Given the description of an element on the screen output the (x, y) to click on. 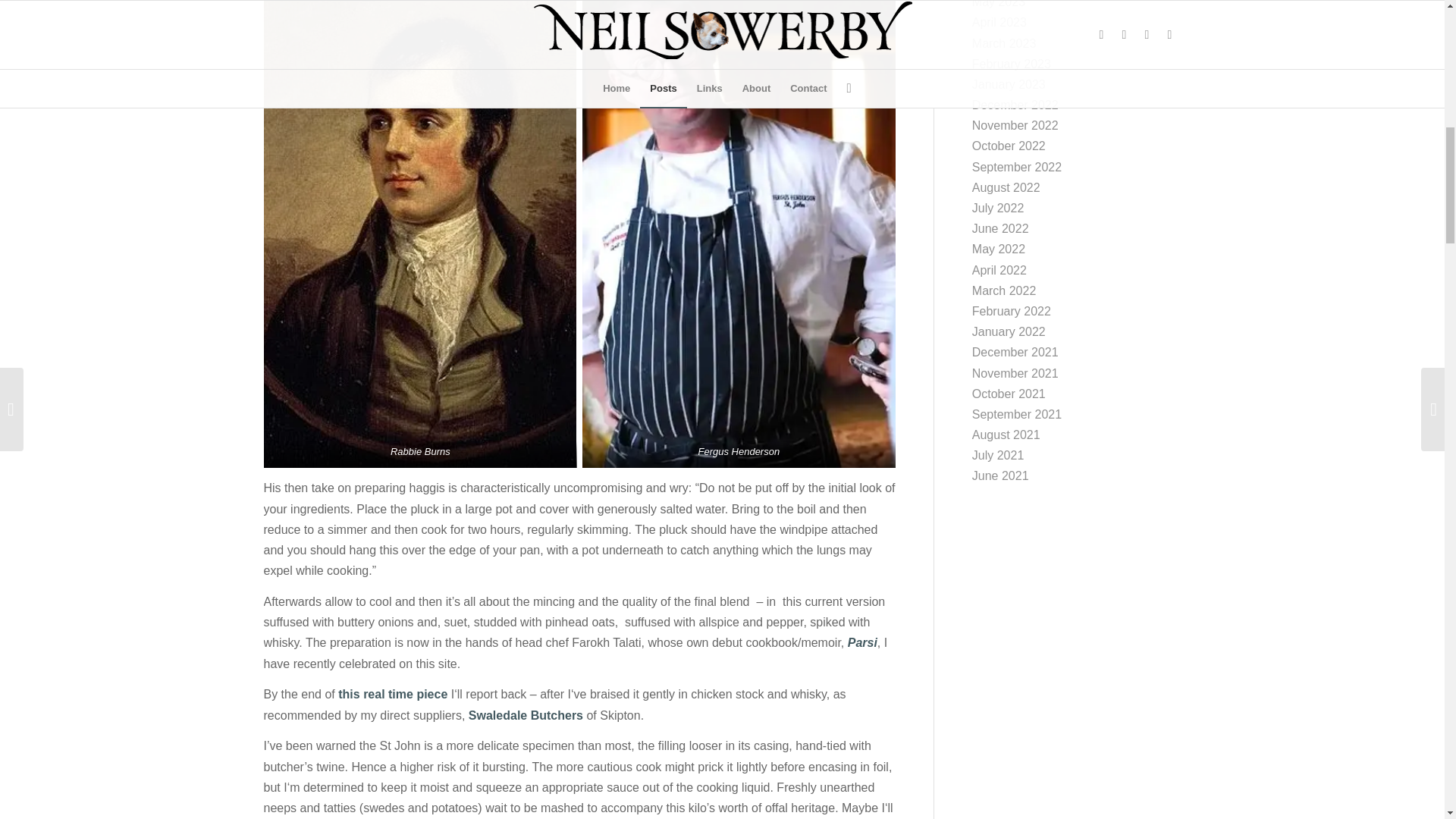
Parsi (862, 642)
Swaledale Butchers (525, 715)
